Given the description of an element on the screen output the (x, y) to click on. 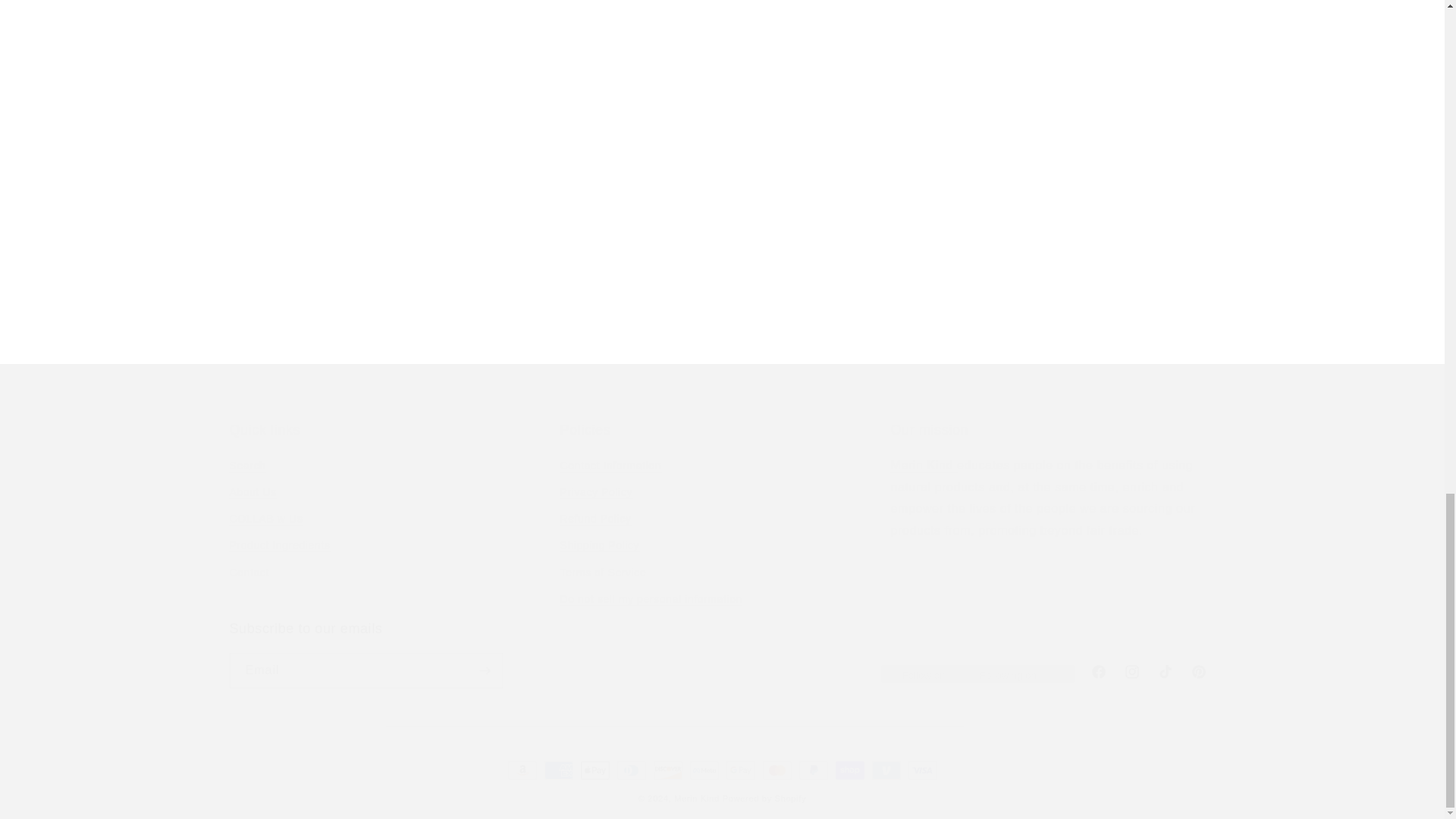
Premium Shea Butter - Smooth and Soft Skin in Every Jar (390, 179)
